Given the description of an element on the screen output the (x, y) to click on. 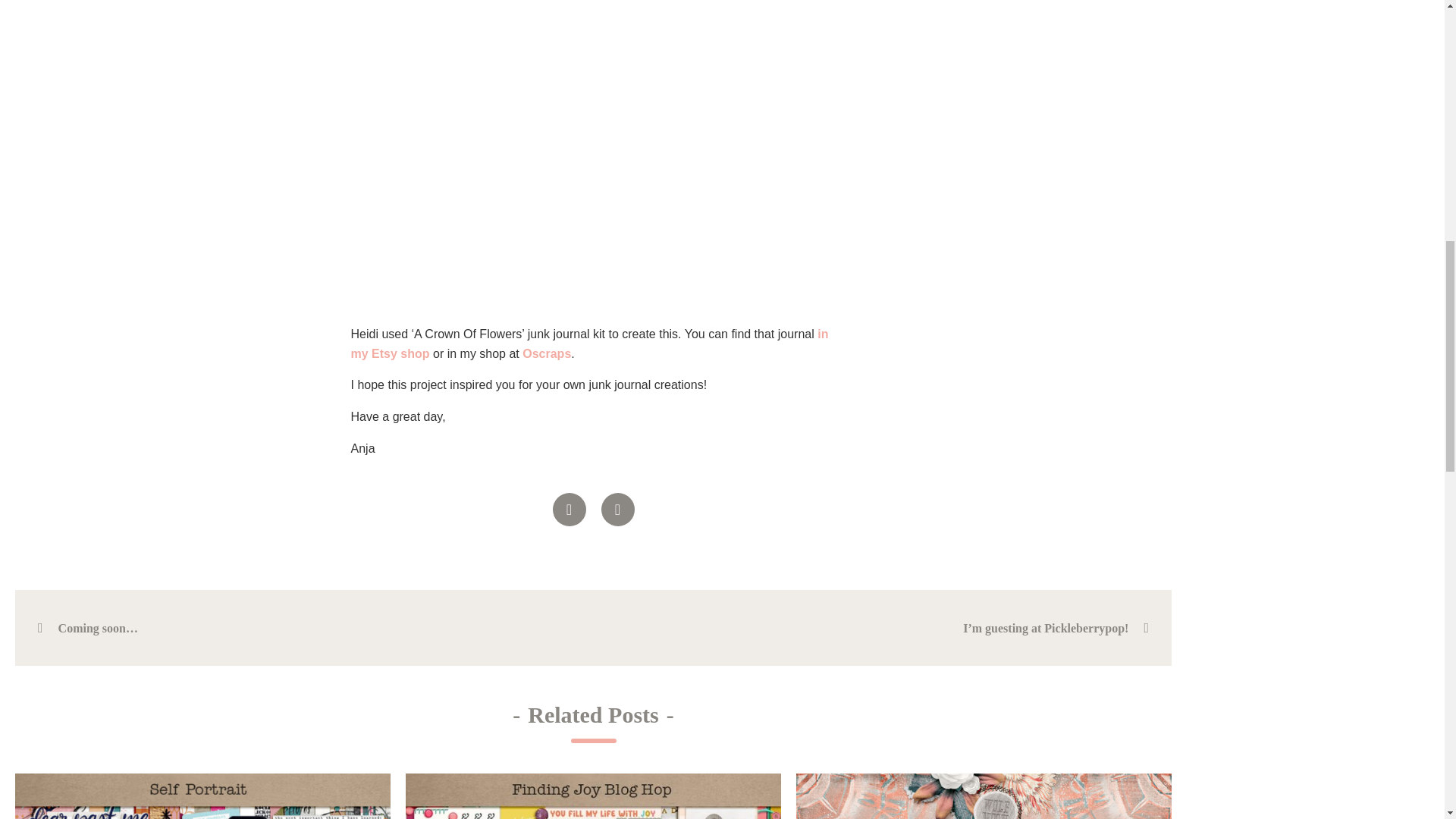
Oscraps (546, 353)
Self Portrait, a freebie blog hop! (202, 796)
in my Etsy shop (589, 343)
